Given the description of an element on the screen output the (x, y) to click on. 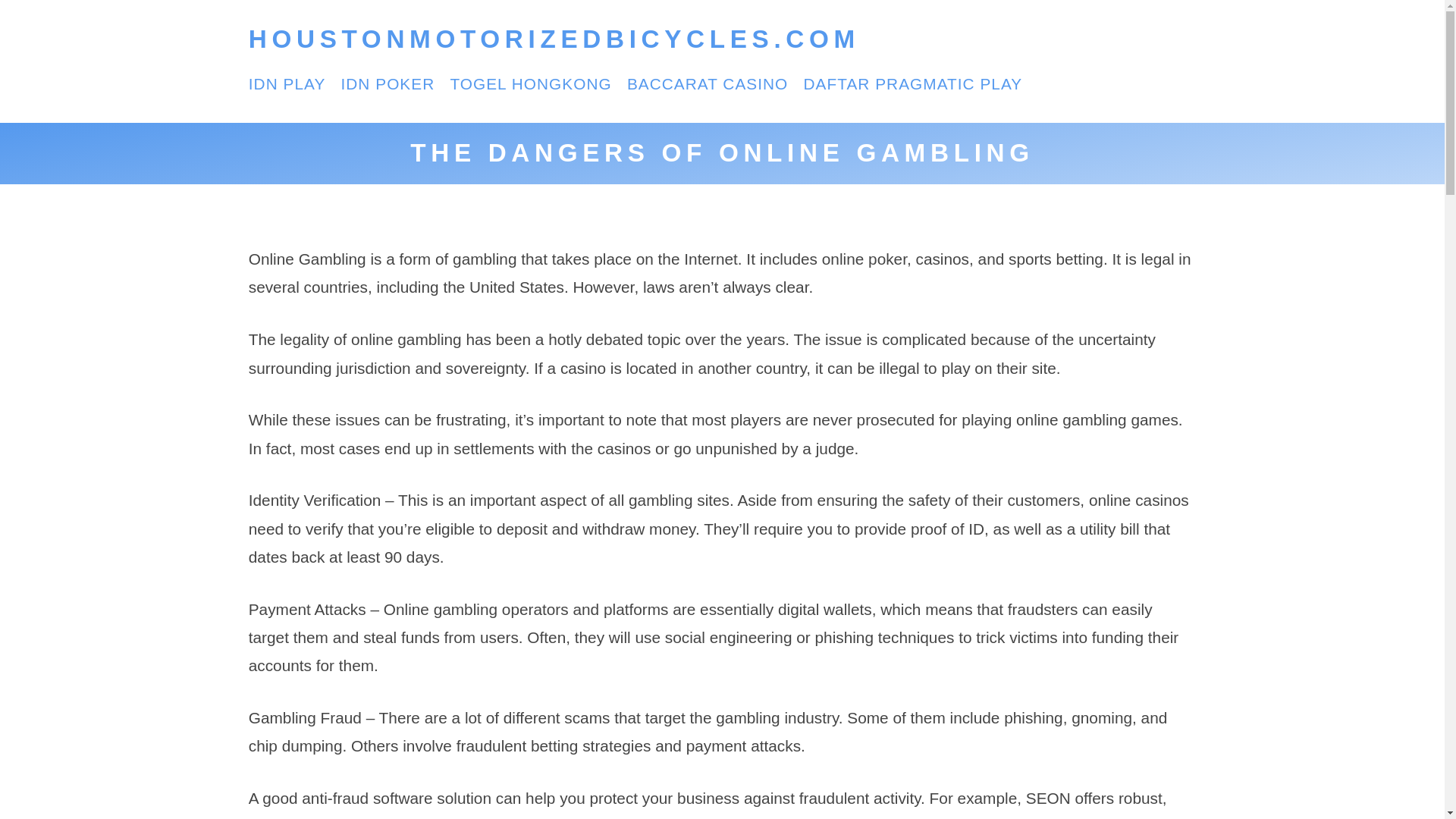
TOGEL HONGKONG (530, 83)
BACCARAT CASINO (707, 83)
IDN PLAY (287, 83)
DAFTAR PRAGMATIC PLAY (912, 83)
HOUSTONMOTORIZEDBICYCLES.COM (554, 39)
IDN POKER (386, 83)
